Given the description of an element on the screen output the (x, y) to click on. 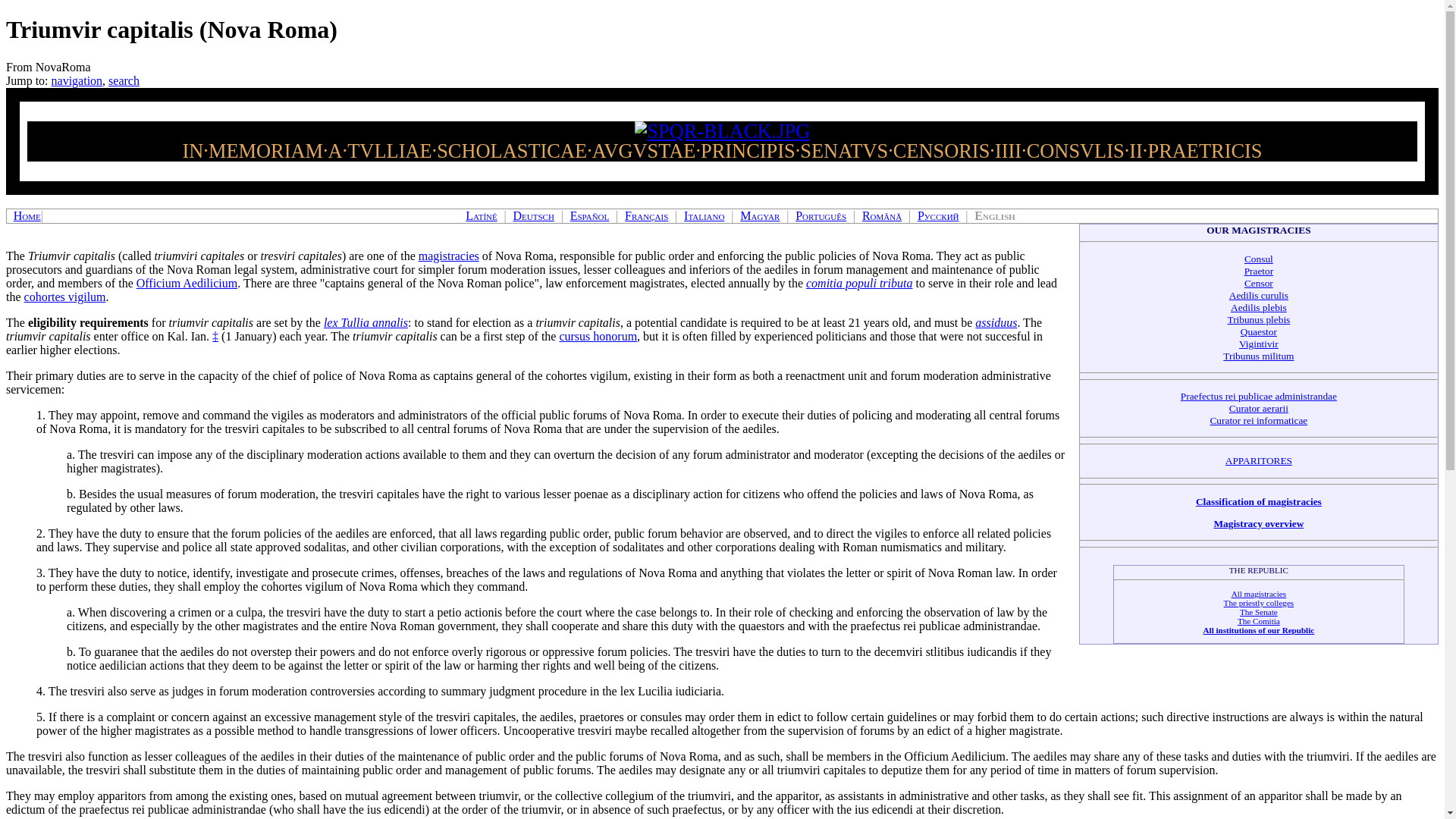
Curator aerarii (1258, 408)
The Comitia (1258, 620)
navigation (76, 80)
lex Tullia annalis (365, 322)
Quaestor (1258, 331)
Tribunus militum (1258, 355)
Consul (1258, 258)
magistracies (449, 255)
Main Page (26, 215)
Vigintivir (1258, 343)
